Given the description of an element on the screen output the (x, y) to click on. 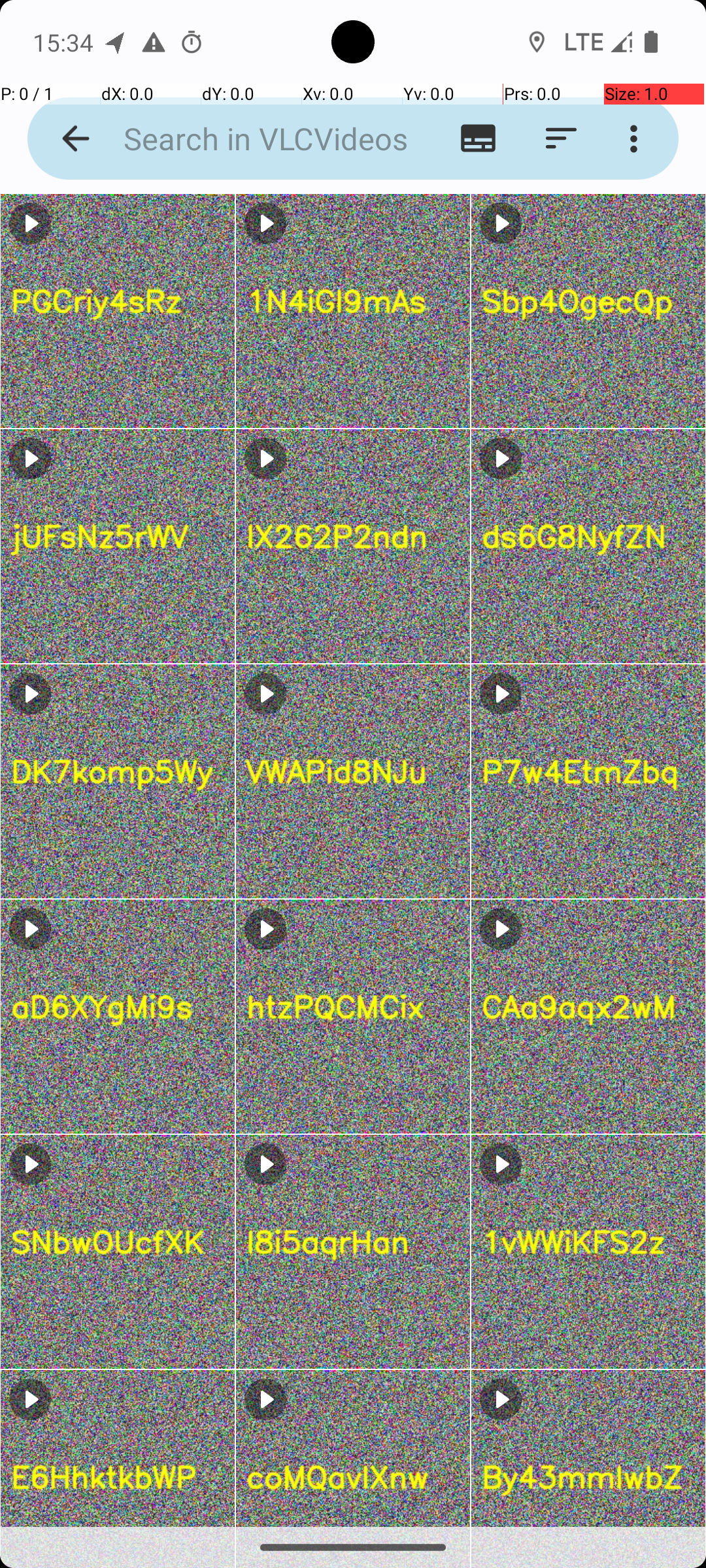
Search in VLCVideos Element type: android.widget.EditText (252, 138)
Toggle filename visibility Element type: android.widget.Button (477, 138)
OpenTracks notification: Distance: 8.20 mi Element type: android.widget.ImageView (115, 41)
